Given the description of an element on the screen output the (x, y) to click on. 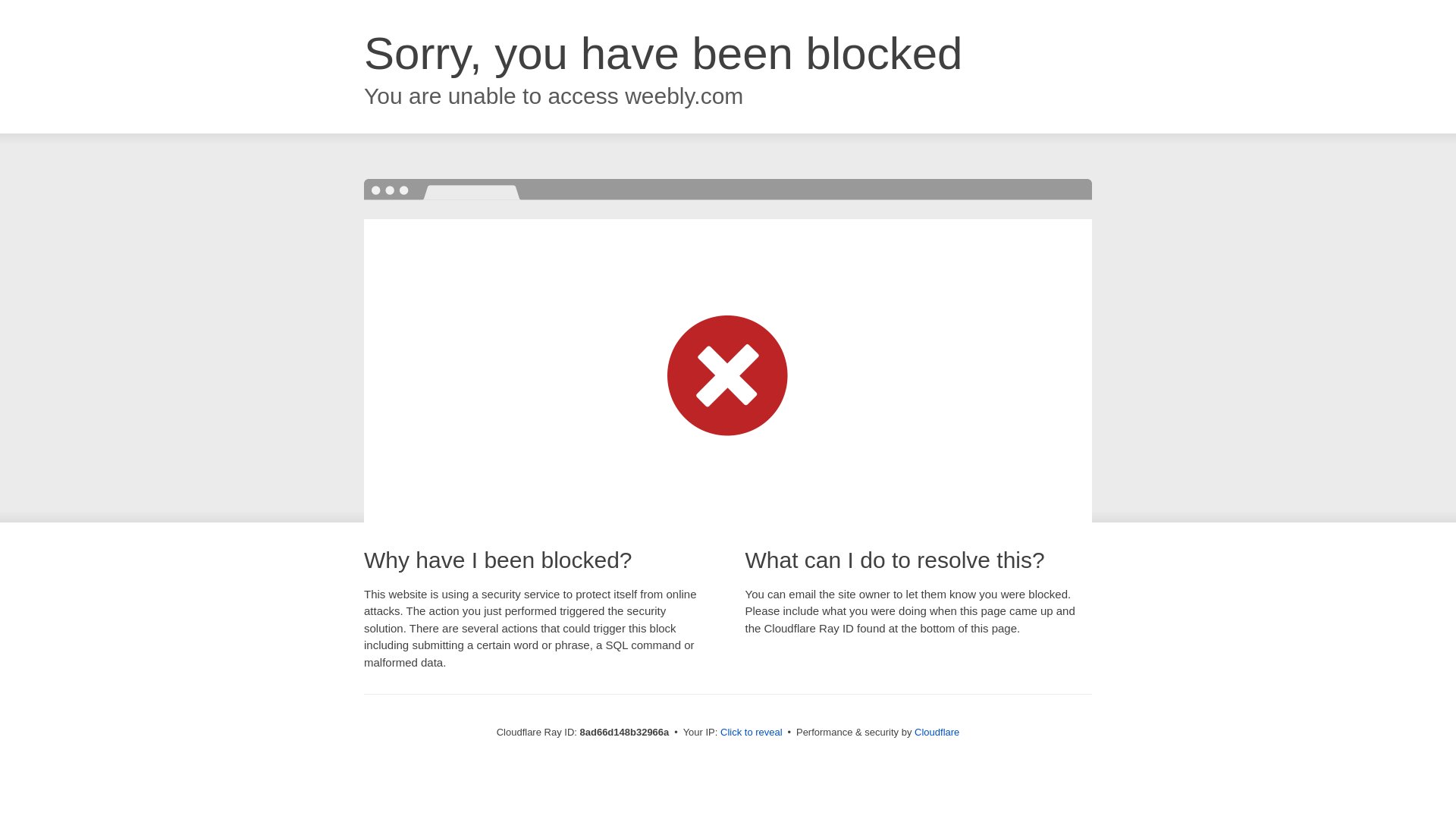
Click to reveal (751, 732)
Cloudflare (936, 731)
